Given the description of an element on the screen output the (x, y) to click on. 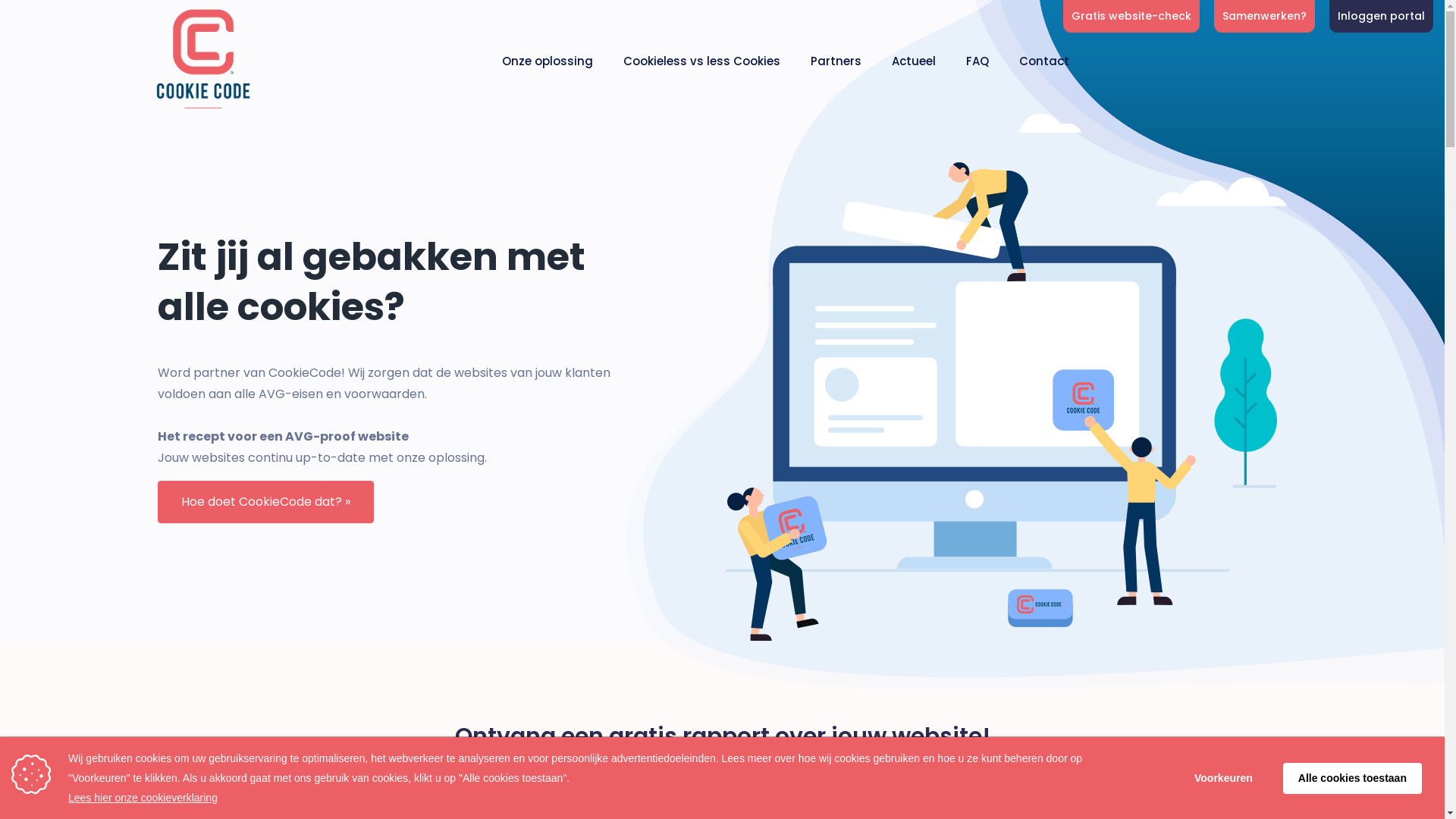
Inloggen portal Element type: text (1381, 16)
Samenwerken? Element type: text (1264, 16)
Onze oplossing Element type: text (547, 60)
Gratis website-check Element type: text (1131, 16)
Partners Element type: text (834, 60)
Effectieve Cookieoplossing van CookieCode Element type: hover (202, 60)
Contact Element type: text (1044, 60)
Actueel Element type: text (913, 60)
FAQ Element type: text (977, 60)
Cookieless vs less Cookies Element type: text (701, 60)
